Given the description of an element on the screen output the (x, y) to click on. 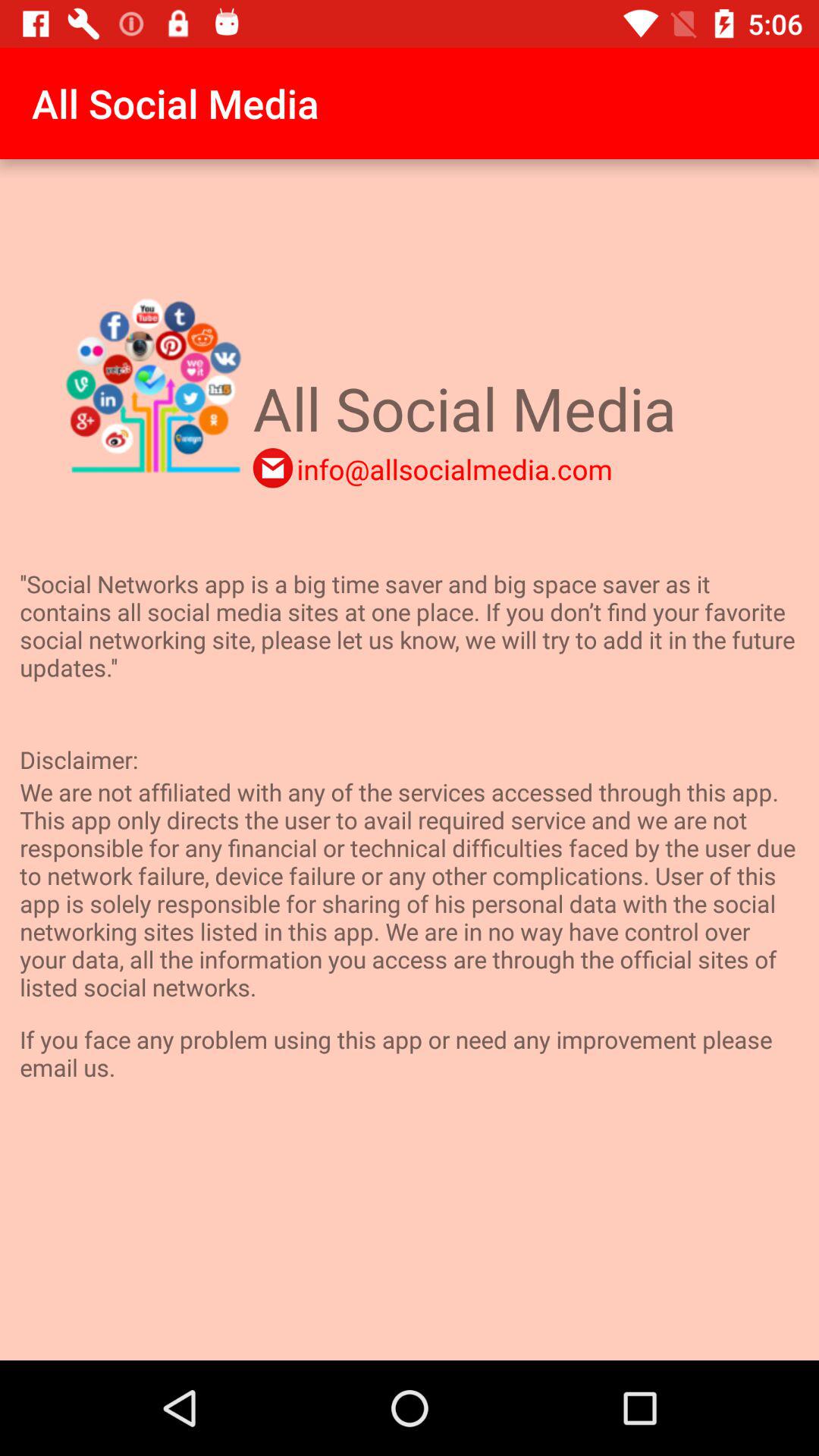
flip to the info@allsocialmedia.com item (454, 468)
